Given the description of an element on the screen output the (x, y) to click on. 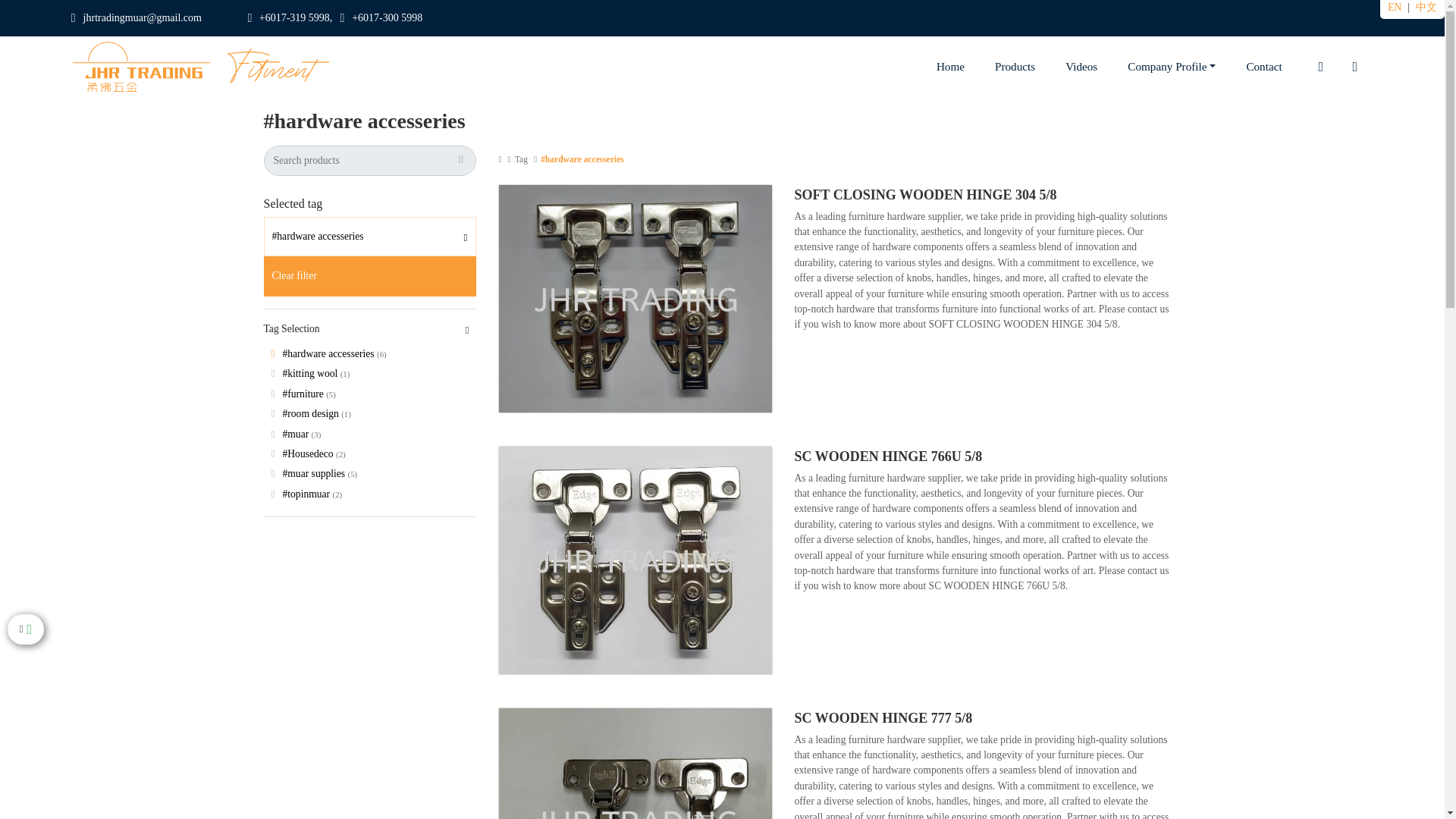
Home (950, 66)
Company Profile (1171, 66)
Contact (1263, 66)
Videos (1080, 66)
Products (1014, 66)
Clear filter (369, 275)
Contact (1263, 66)
Shopping Cart (1355, 66)
Company Profile (1171, 66)
Home (950, 66)
Tag (522, 159)
Videos (1080, 66)
Products (1014, 66)
JHR TRADING (201, 66)
